Given the description of an element on the screen output the (x, y) to click on. 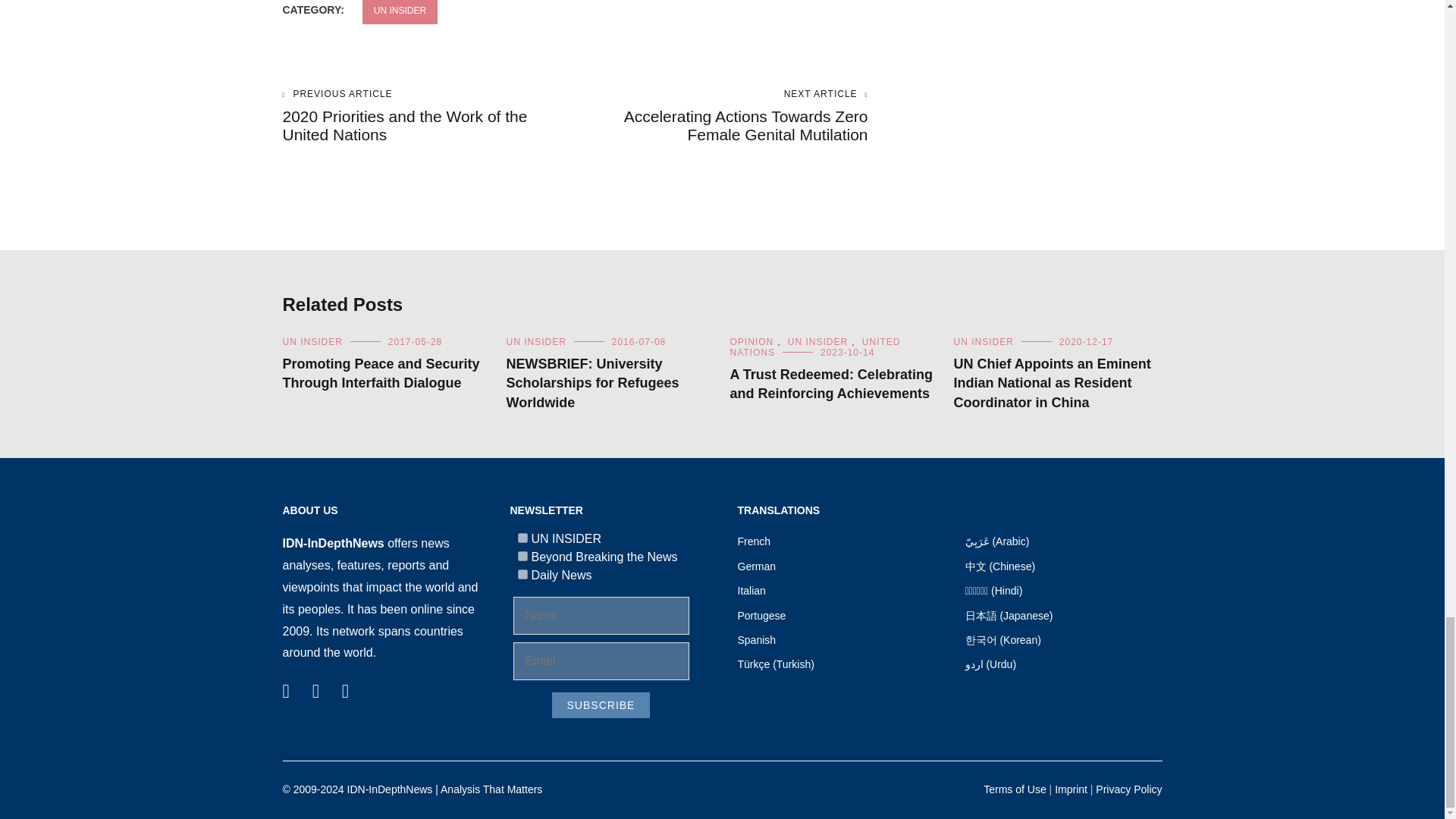
Imprint (1070, 788)
9 (521, 556)
7 (521, 537)
10 (521, 574)
Terms of Use (1014, 788)
